Given the description of an element on the screen output the (x, y) to click on. 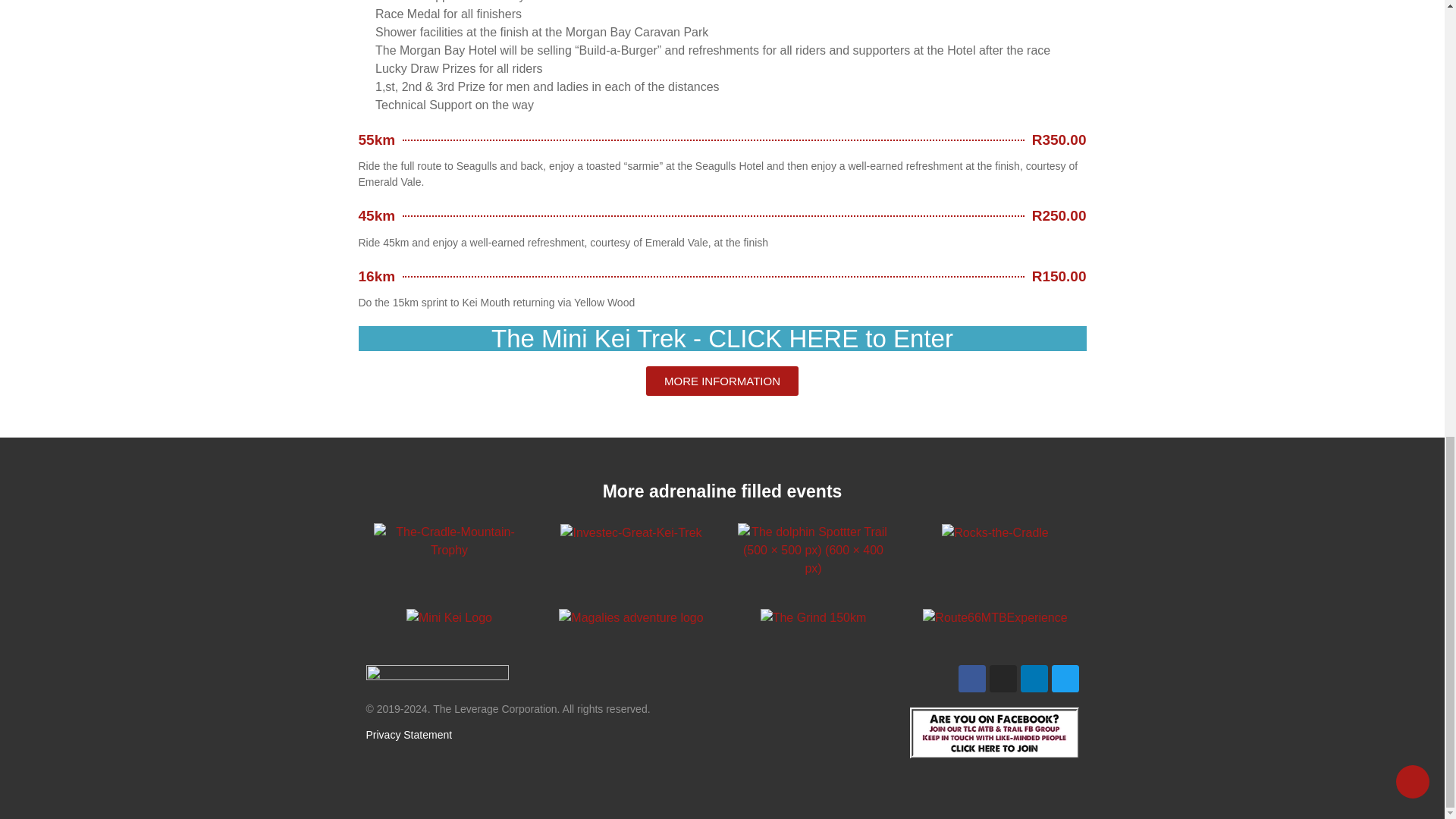
Investec-Great-Kei-Trek (630, 533)
Rocks-the-Cradle (995, 533)
Route66MTBExperience (995, 618)
Magalies adventure logo (631, 618)
The-Cradle-Mountain-Trophy (448, 541)
The-Grind-150km (813, 618)
Mini Kei Logo (449, 618)
